Given the description of an element on the screen output the (x, y) to click on. 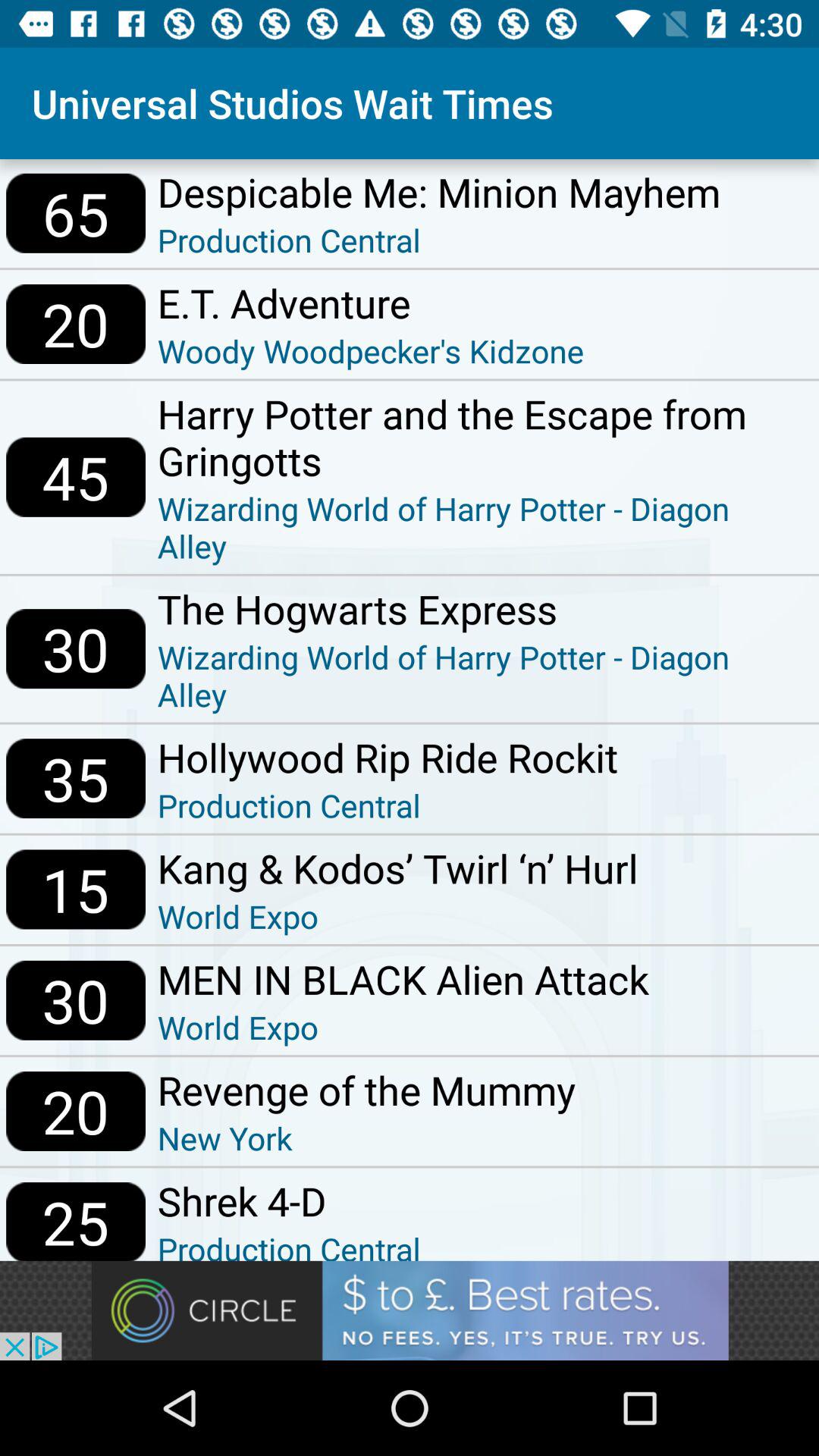
tap the shrek 4-d item (288, 1200)
